Given the description of an element on the screen output the (x, y) to click on. 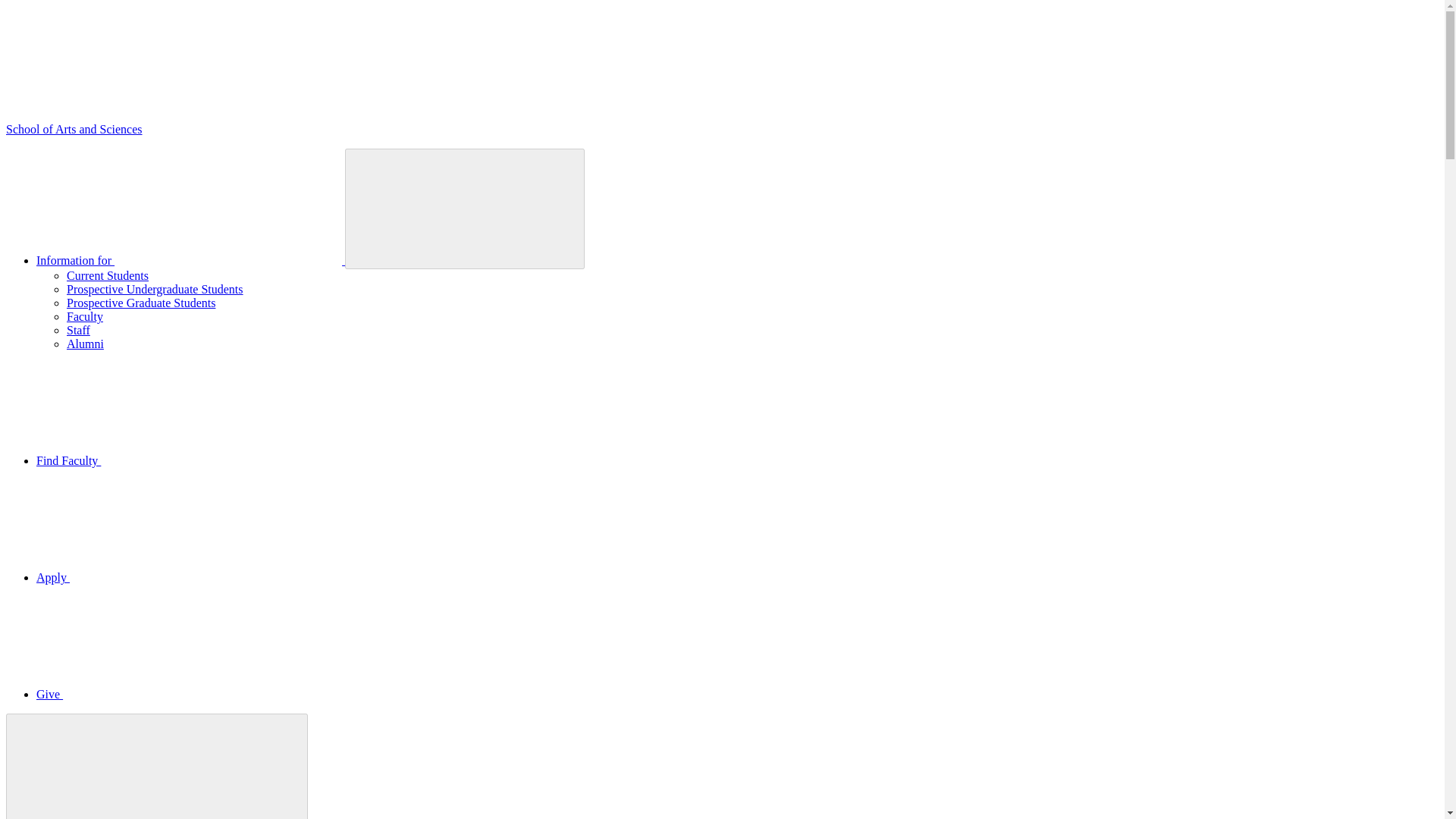
Faculty (84, 316)
Give (162, 694)
Prospective Undergraduate Students (154, 288)
Alumni (84, 343)
Prospective Graduate Students (140, 302)
Apply (156, 766)
Skip to main content (166, 576)
School of Arts and Sciences (182, 460)
